Given the description of an element on the screen output the (x, y) to click on. 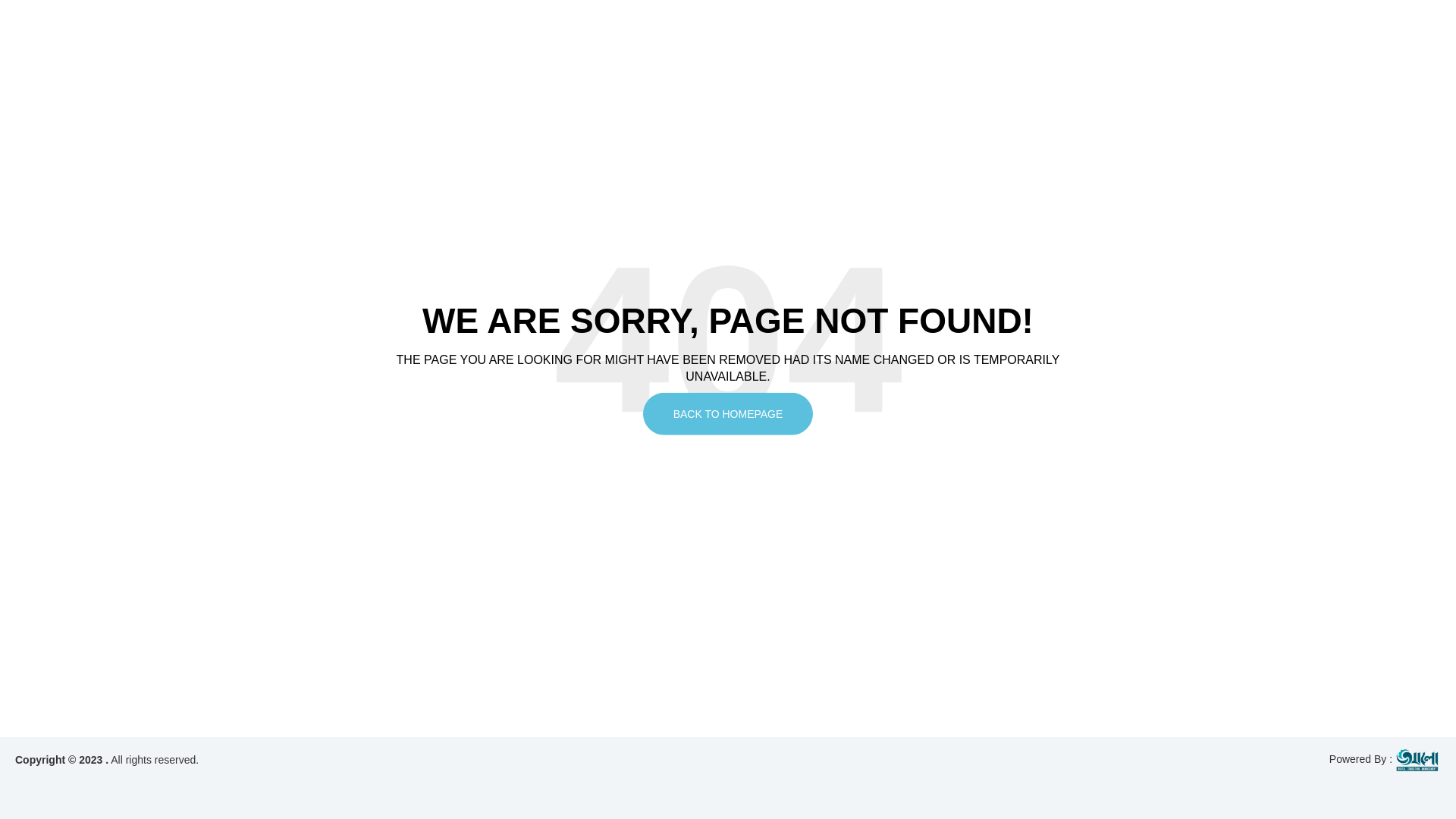
BACK TO HOMEPAGE Element type: text (728, 413)
